Given the description of an element on the screen output the (x, y) to click on. 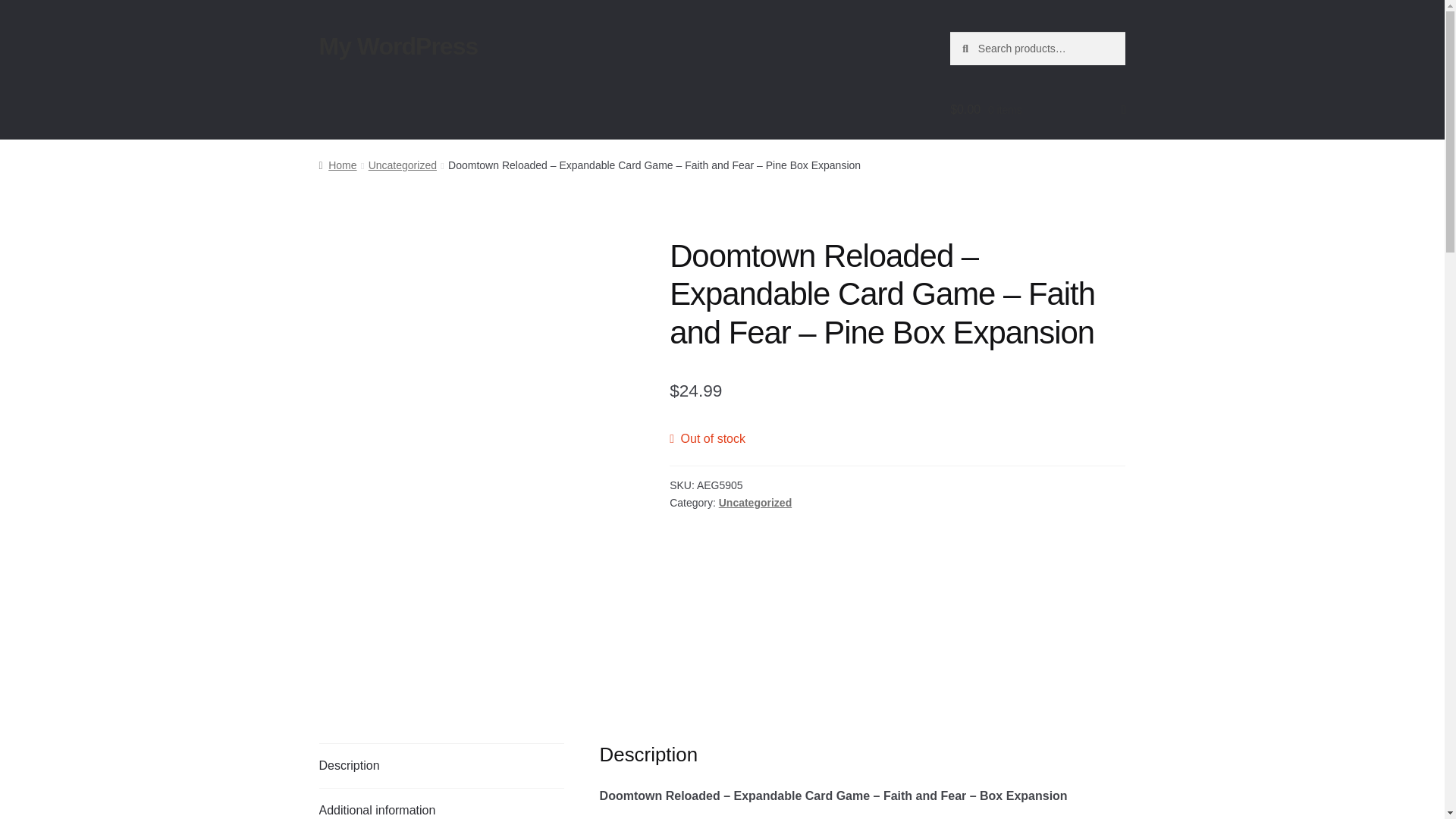
Uncategorized (755, 502)
Additional information (441, 803)
Home (337, 164)
Uncategorized (402, 164)
View your shopping cart (1037, 109)
Description (441, 765)
My WordPress (398, 45)
